Given the description of an element on the screen output the (x, y) to click on. 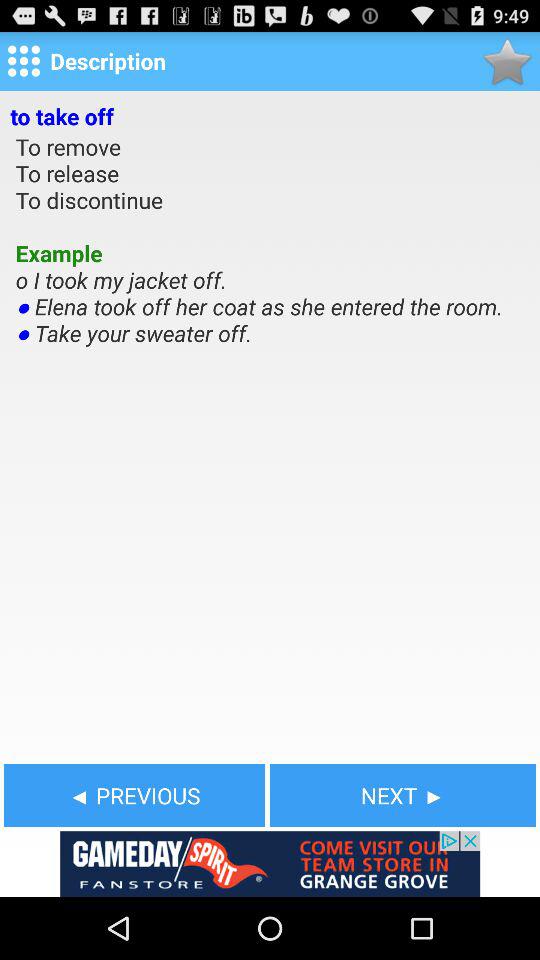
add favorite (506, 60)
